Given the description of an element on the screen output the (x, y) to click on. 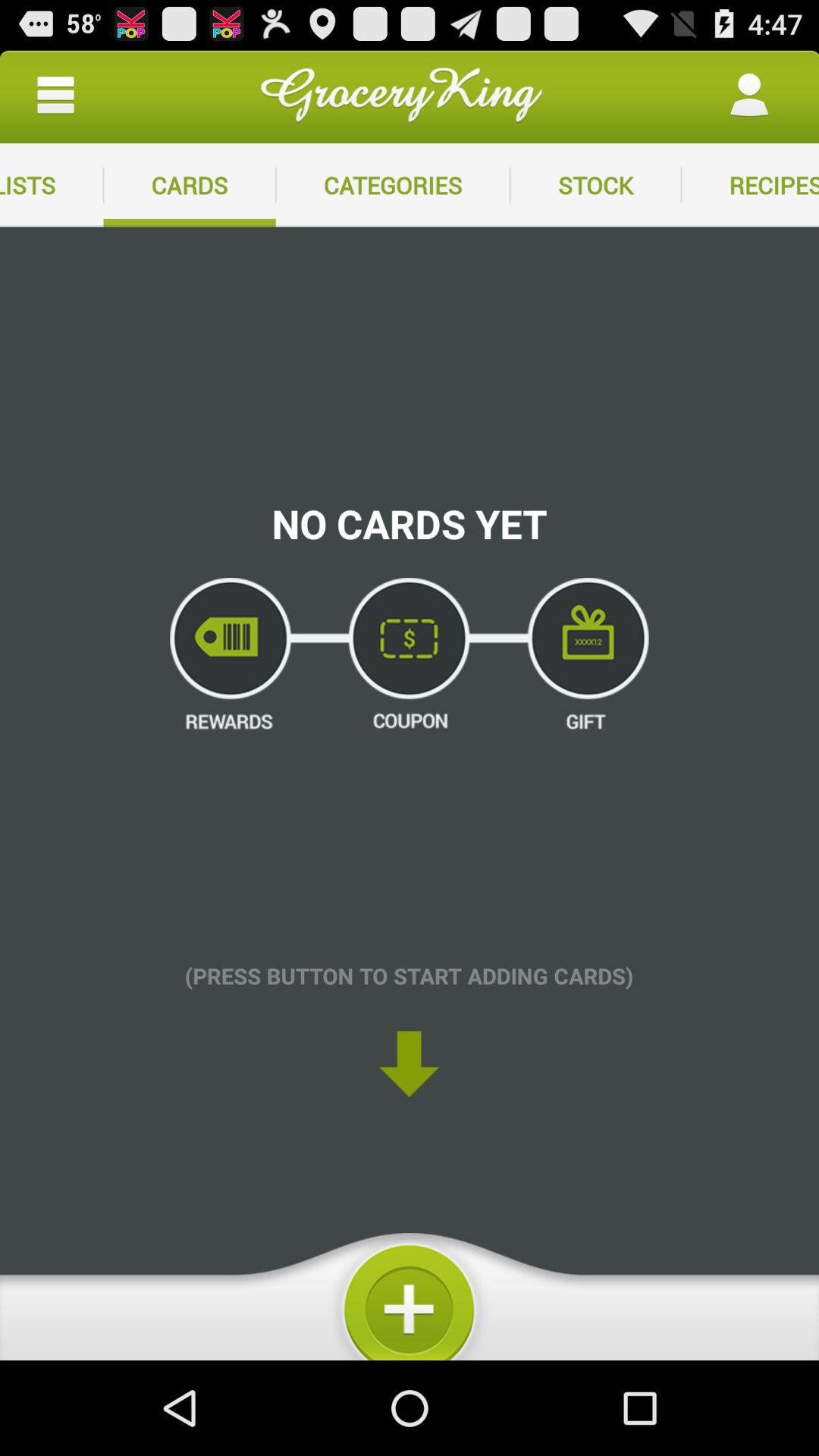
launch item to the left of the cards app (51, 184)
